Given the description of an element on the screen output the (x, y) to click on. 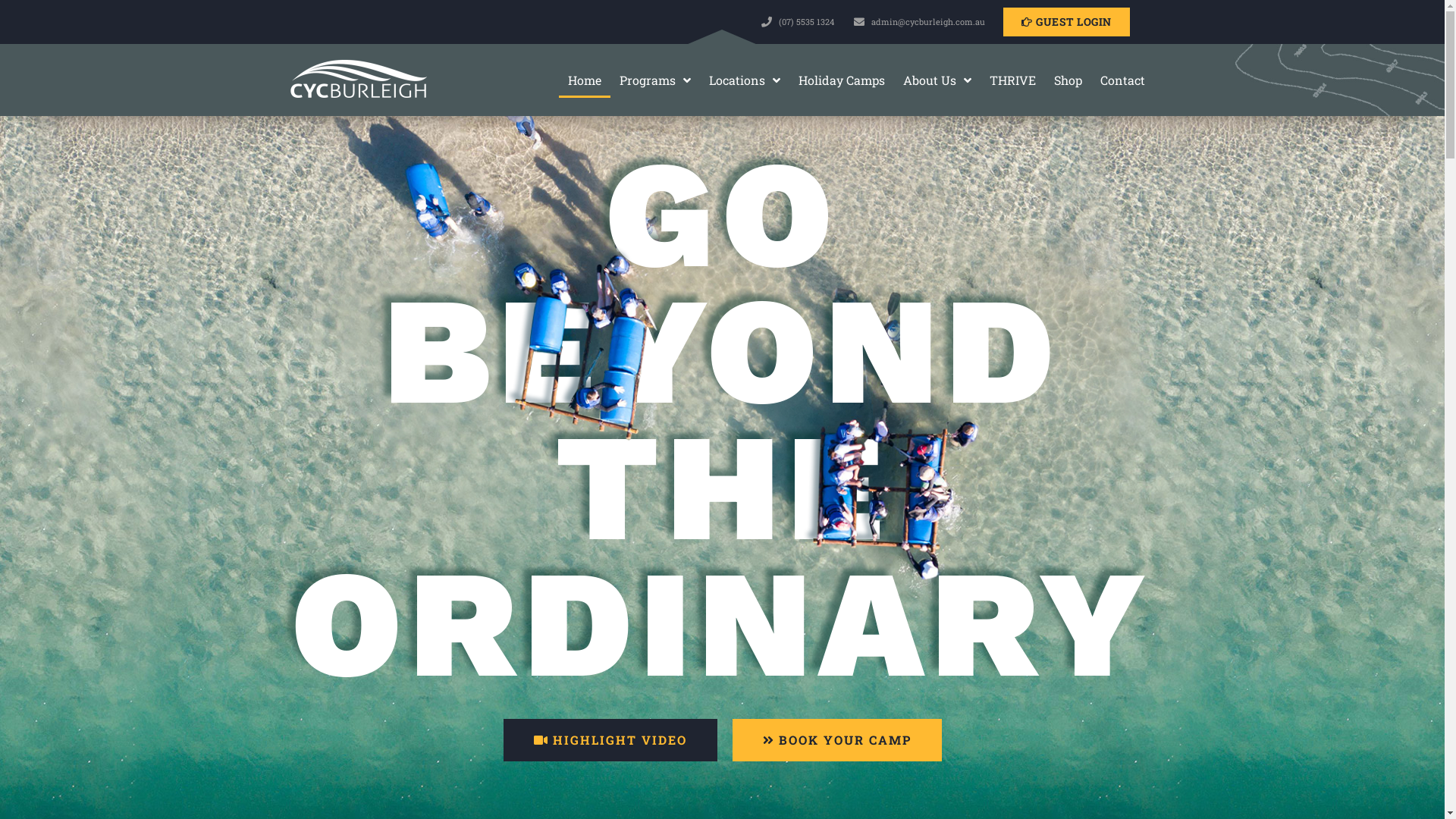
Contact Element type: text (1122, 79)
GUEST LOGIN Element type: text (1066, 21)
HIGHLIGHT VIDEO Element type: text (610, 739)
Holiday Camps Element type: text (841, 79)
Programs Element type: text (654, 79)
BOOK YOUR CAMP Element type: text (836, 739)
About Us Element type: text (937, 79)
(07) 5535 1324 Element type: text (799, 21)
Locations Element type: text (744, 79)
Home Element type: text (584, 79)
admin@cycburleigh.com.au Element type: text (911, 21)
THRIVE Element type: text (1012, 79)
Shop Element type: text (1067, 79)
White CYC Burleigh Logo Element type: hover (357, 79)
